Given the description of an element on the screen output the (x, y) to click on. 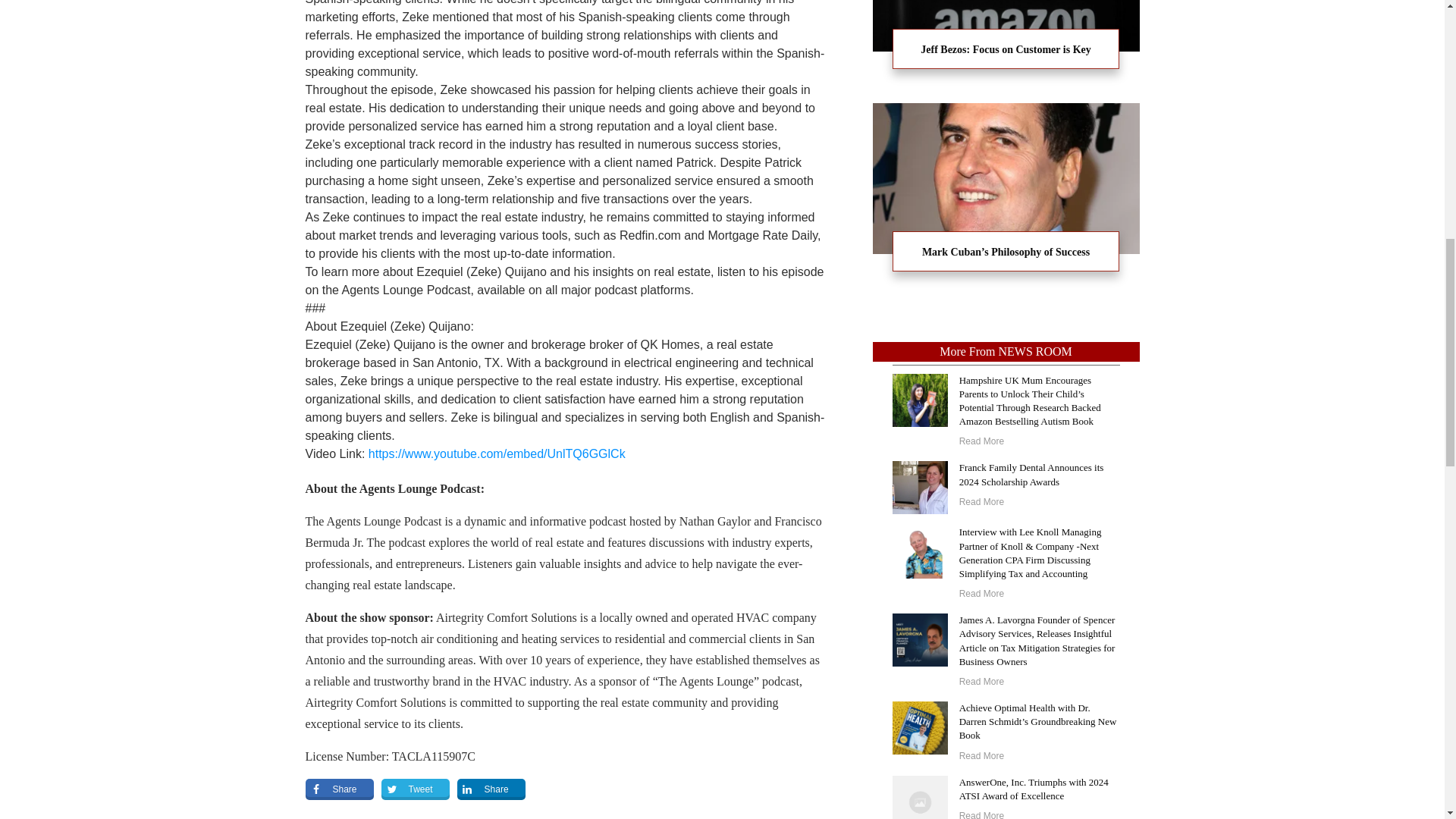
Jeff Bezos: Focus on Customer is Key (1005, 49)
Franck Family Dental Announces its 2024 Scholarship Awards (1031, 473)
Tweet (415, 789)
Read More (981, 681)
Jeff Bezos: Focus on Customer is Key (1005, 43)
Share (491, 789)
Jeff Bezos: Focus on Customer is Key (1005, 49)
Next (770, 817)
AnswerOne, Inc. Triumphs with 2024 ATSI Award of Excellence (1033, 788)
Previous (362, 817)
Read More (981, 593)
Read More (981, 440)
Franck Family Dental Announces its 2024 Scholarship Awards (1031, 473)
